Given the description of an element on the screen output the (x, y) to click on. 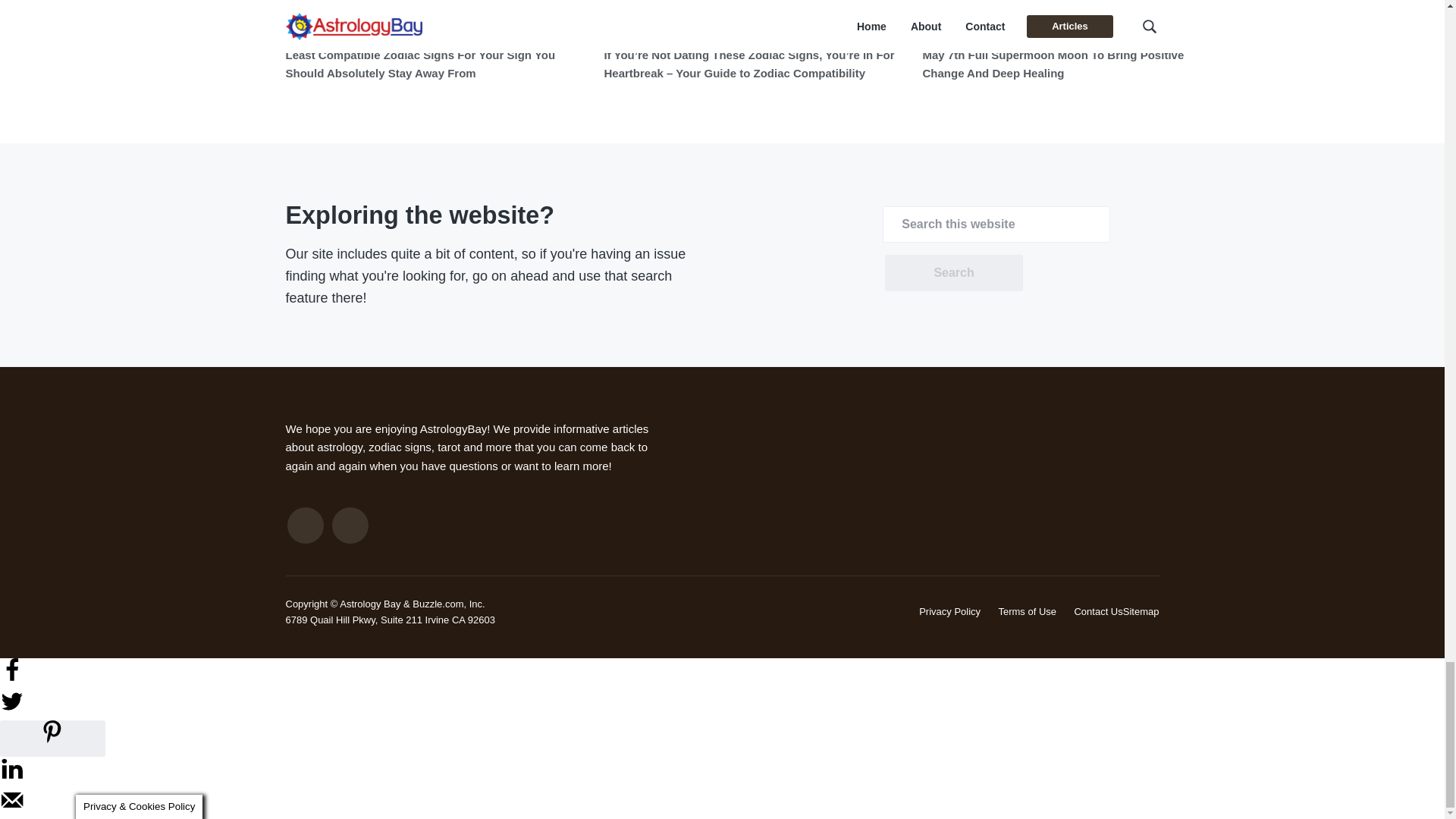
Search (953, 272)
Search (953, 272)
